Given the description of an element on the screen output the (x, y) to click on. 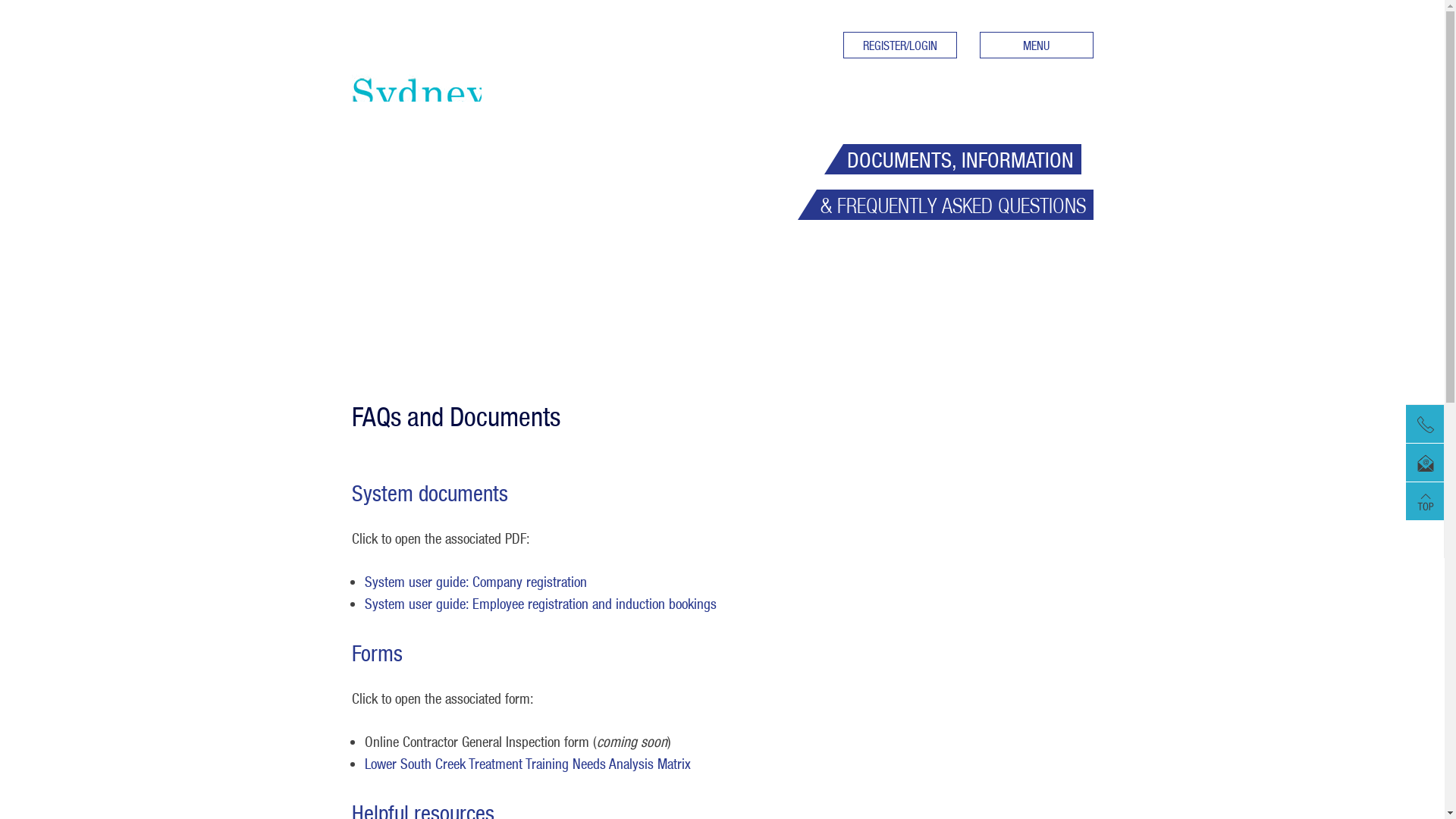
System user guide: Company registration Element type: text (475, 581)
Lower South Creek Treatment Training Needs Analysis Matrix Element type: text (527, 763)
MENU Element type: text (1036, 44)
Sydney Water Element type: text (416, 54)
REGISTER/LOGIN Element type: text (900, 44)
